Given the description of an element on the screen output the (x, y) to click on. 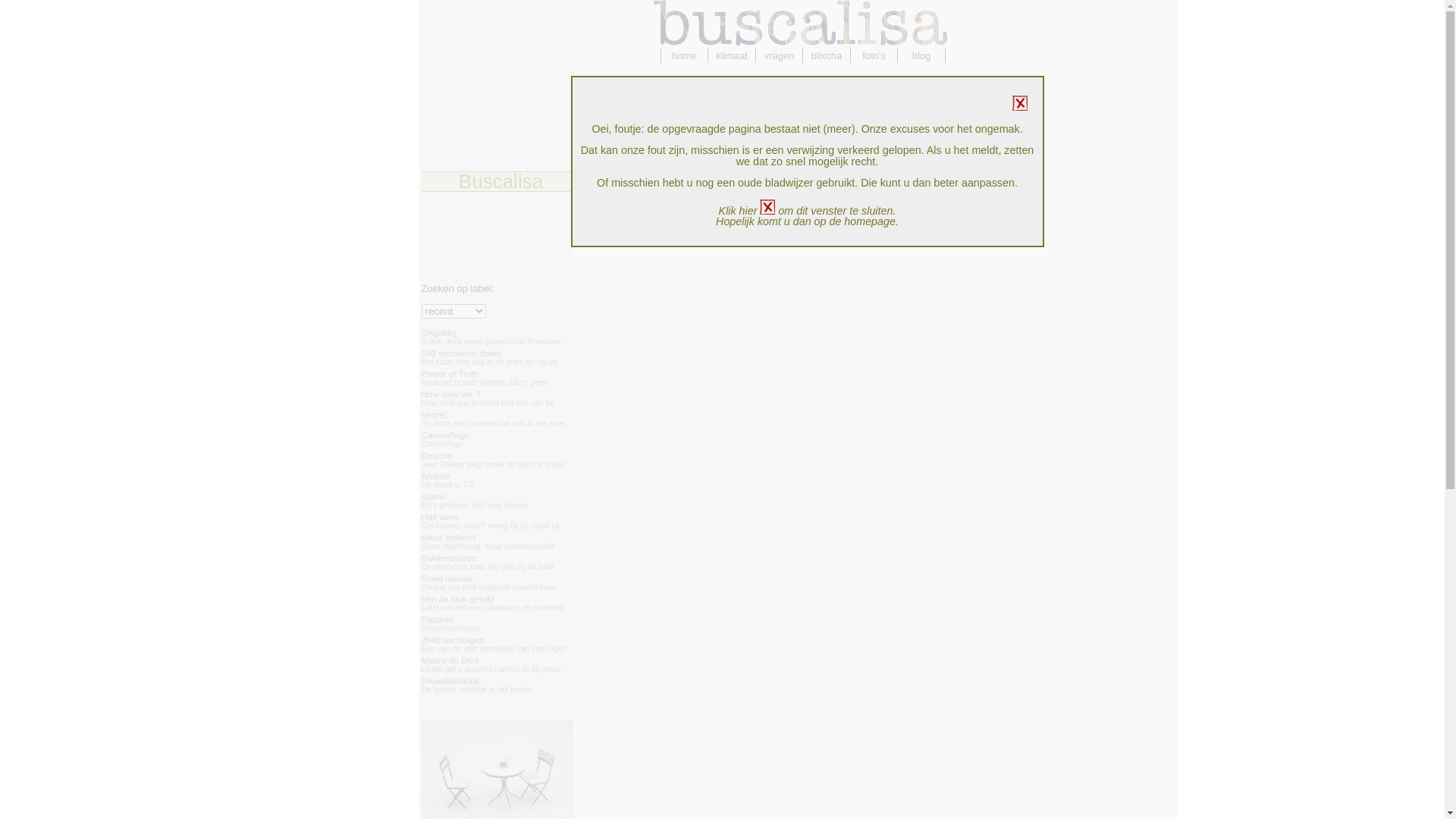
blixcha Element type: text (826, 54)
Madre de Dios Element type: text (450, 660)
Papaver Element type: text (438, 619)
foto's Element type: text (874, 54)
Kleur, bekend Element type: text (448, 537)
Ambitie Element type: text (436, 475)
Douche Element type: text (436, 455)
Camouflage Element type: text (445, 434)
home Element type: text (683, 54)
Van de klok gerukt Element type: text (457, 598)
Half twee Element type: text (439, 516)
klimaat Element type: text (732, 54)
sluiten Element type: hover (1018, 102)
How dare we ? Element type: text (450, 393)
Power of Truth Element type: text (450, 373)
sluiten Element type: hover (767, 206)
blog Element type: text (921, 54)
Verzet Element type: text (433, 414)
Repetitielokaal Element type: text (450, 680)
2648 aanslagen Element type: text (452, 639)
Bakkerpraatje Element type: text (448, 557)
vragen Element type: text (779, 54)
100 seconden doem Element type: text (461, 352)
Goed nieuws Element type: text (447, 578)
Ongeldig Element type: text (439, 332)
Alarm Element type: text (433, 496)
